Given the description of an element on the screen output the (x, y) to click on. 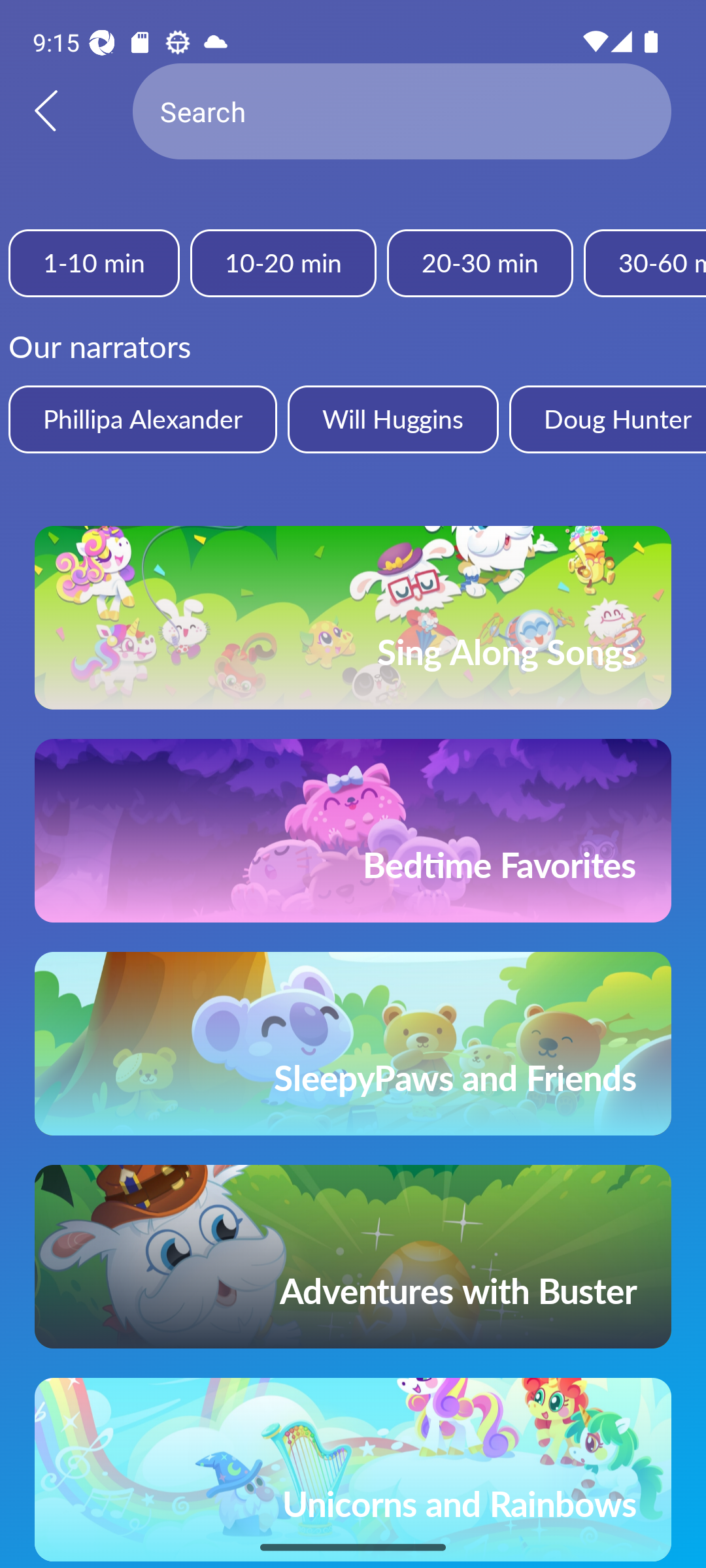
Search (401, 110)
1-10 min (94, 262)
10-20 min (282, 262)
20-30 min (479, 262)
30-60 min (644, 262)
Phillipa Alexander (142, 419)
Will Huggins (392, 419)
Doug Hunter (607, 419)
Sing Along Songs (352, 616)
Bedtime Favorites (352, 829)
SleepyPaws and Friends (352, 1043)
Adventures with Buster (352, 1256)
Unicorns and Rainbows (352, 1469)
